Given the description of an element on the screen output the (x, y) to click on. 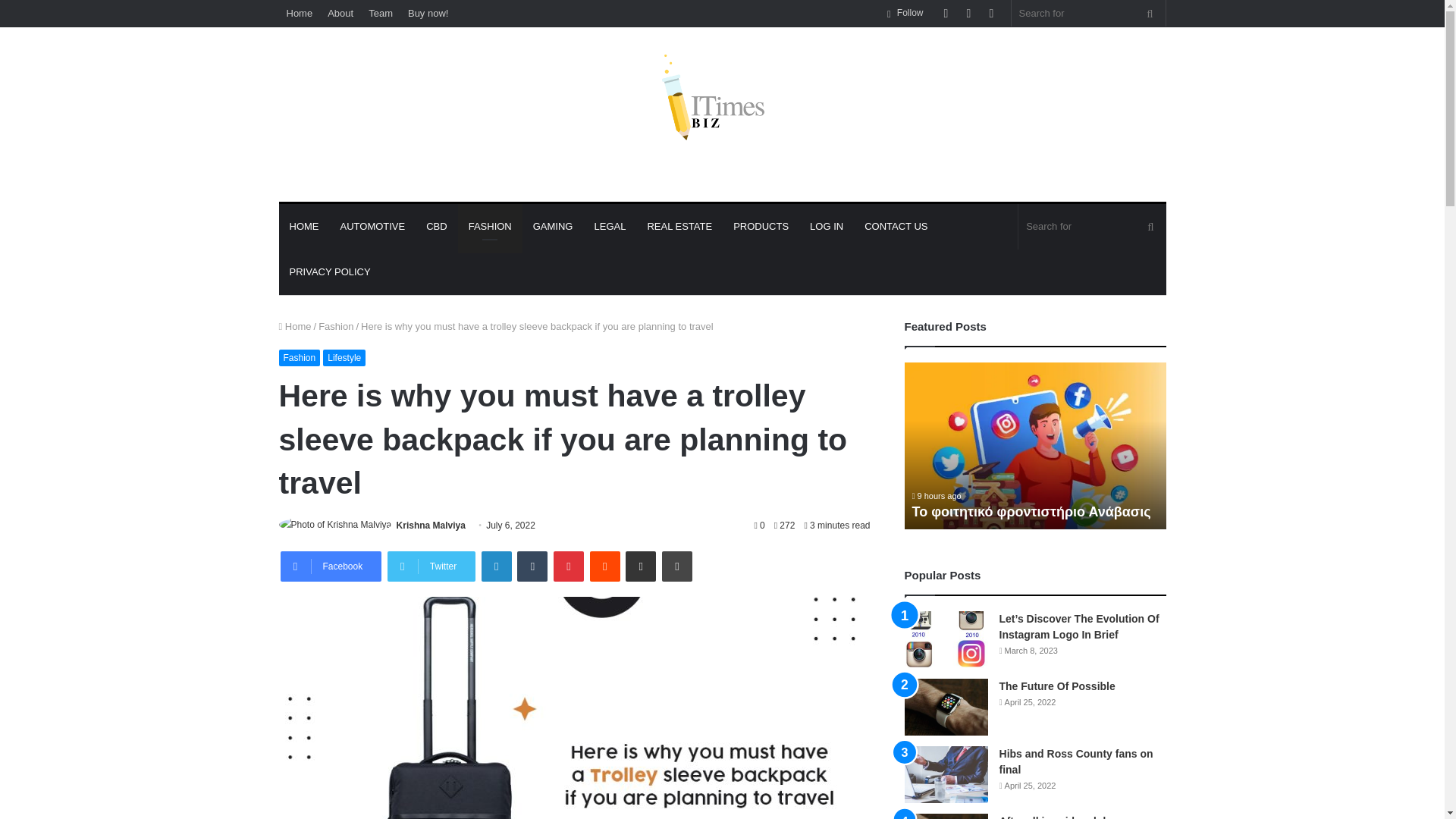
GAMING (552, 226)
Follow (905, 13)
HOME (304, 226)
LinkedIn (496, 566)
Krishna Malviya (430, 525)
Team (380, 13)
Twitter (431, 566)
REAL ESTATE (679, 226)
LOG IN (826, 226)
Pinterest (568, 566)
